Given the description of an element on the screen output the (x, y) to click on. 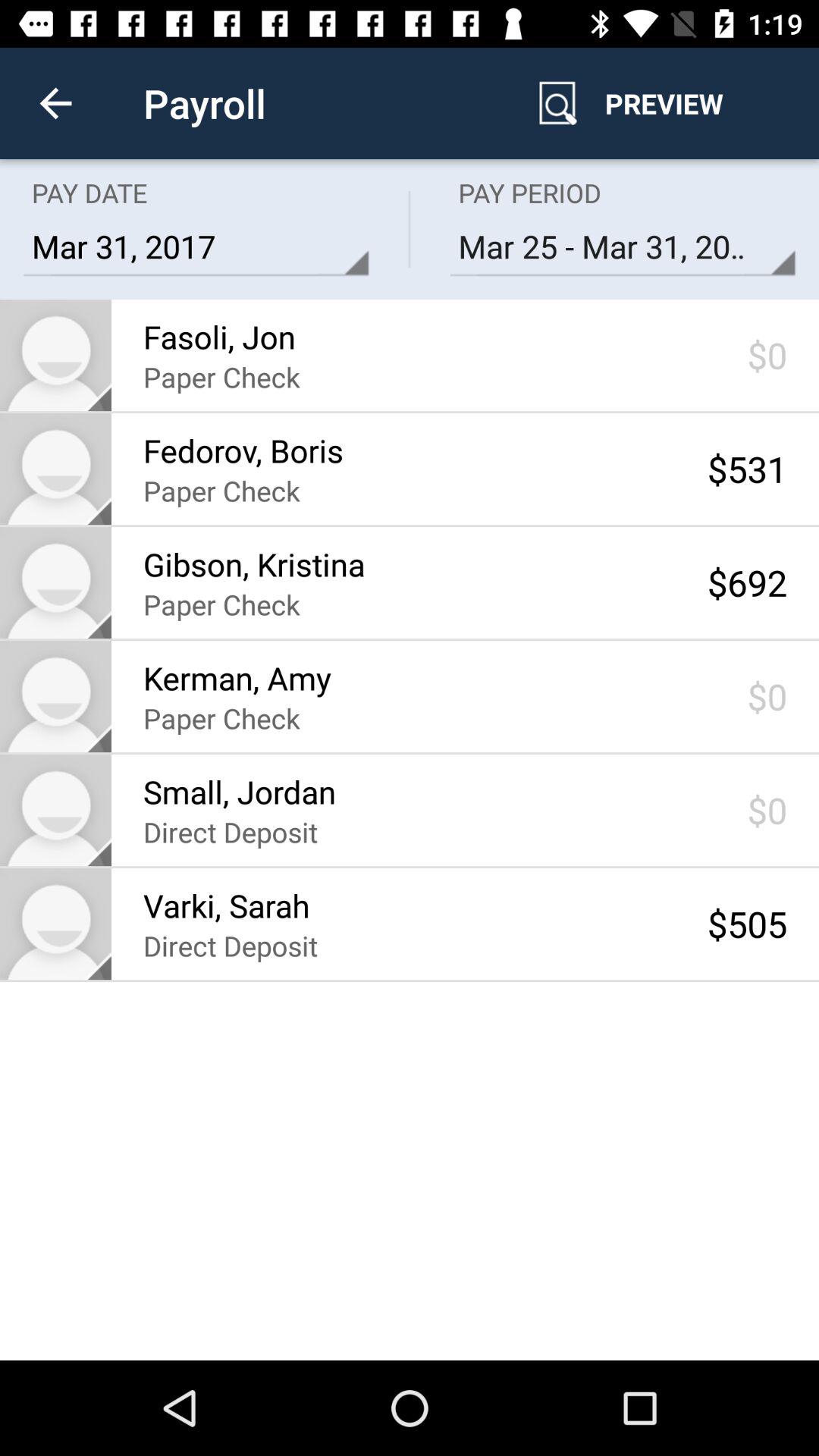
a persons icon (55, 582)
